Given the description of an element on the screen output the (x, y) to click on. 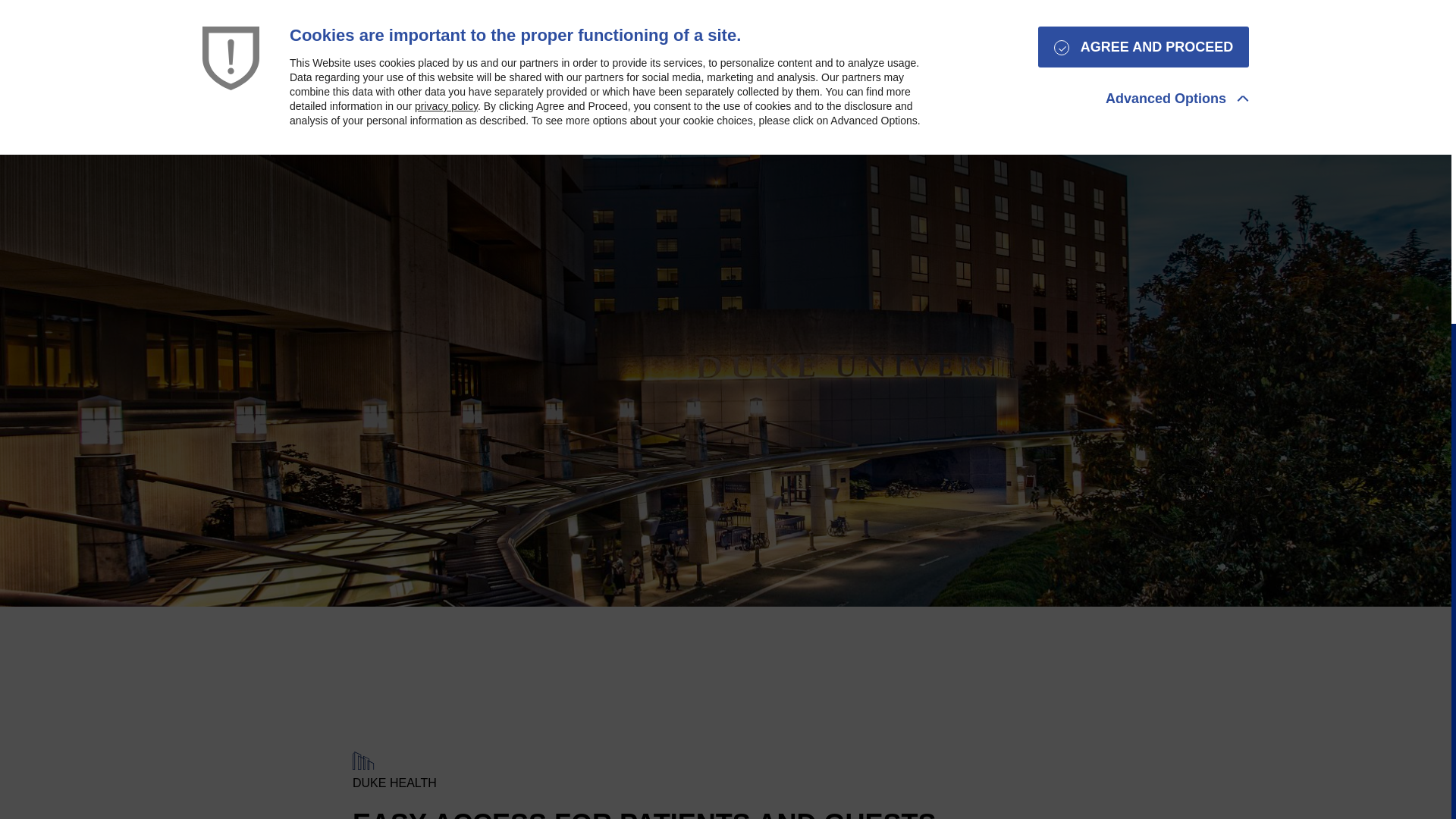
AGREE AND PROCEED (1143, 46)
DUKE (884, 93)
MEET (823, 93)
privacy policy (445, 105)
Advanced Options (1177, 98)
ABOUT US (1048, 93)
BOOK NOW (1315, 81)
GALLERY (957, 93)
STAY (411, 93)
